Given the description of an element on the screen output the (x, y) to click on. 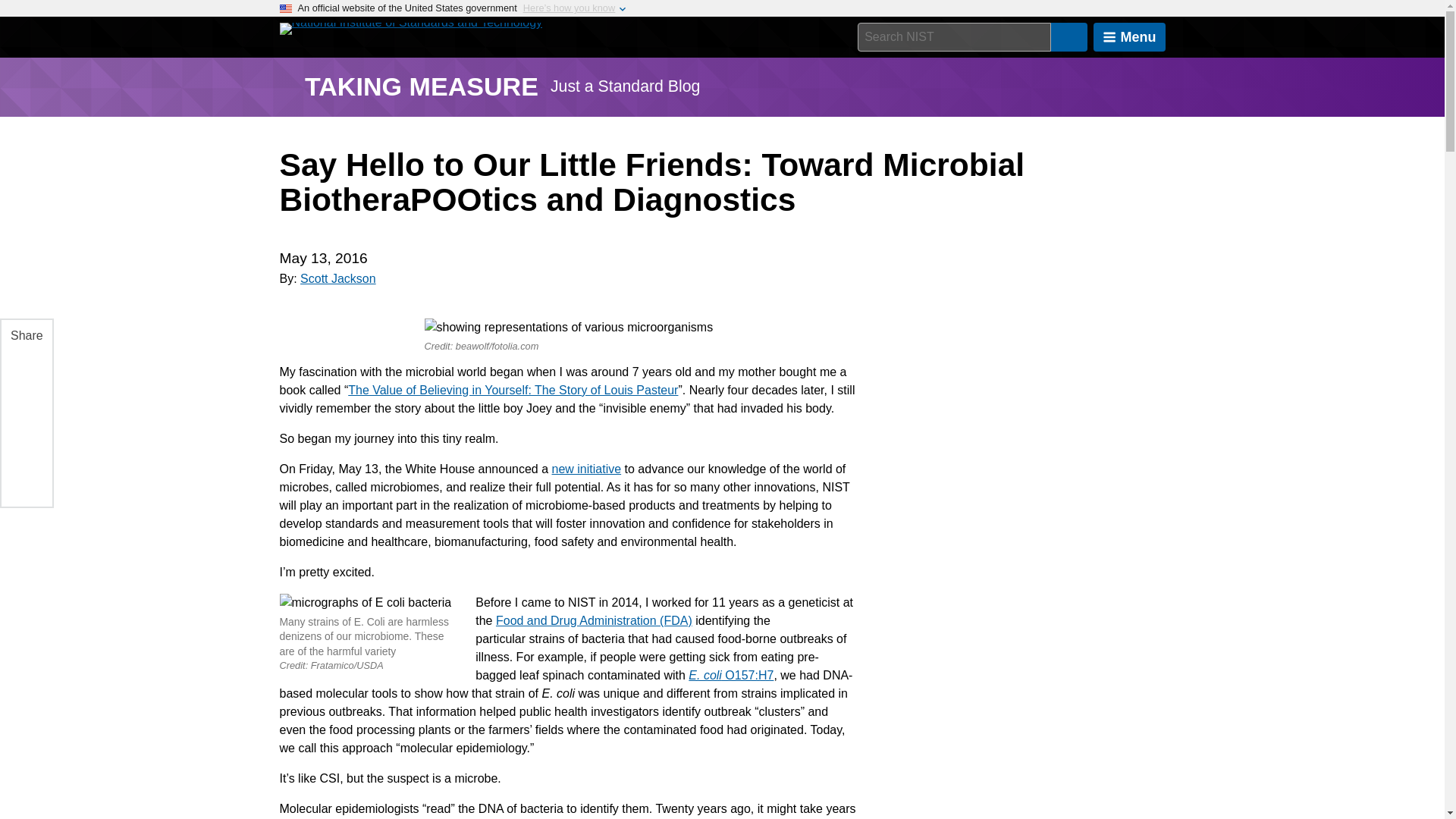
Email (25, 476)
National Institute of Standards and Technology (410, 28)
Linkedin (25, 405)
Menu (1129, 36)
Twitter (25, 440)
Facebook (25, 369)
